Given the description of an element on the screen output the (x, y) to click on. 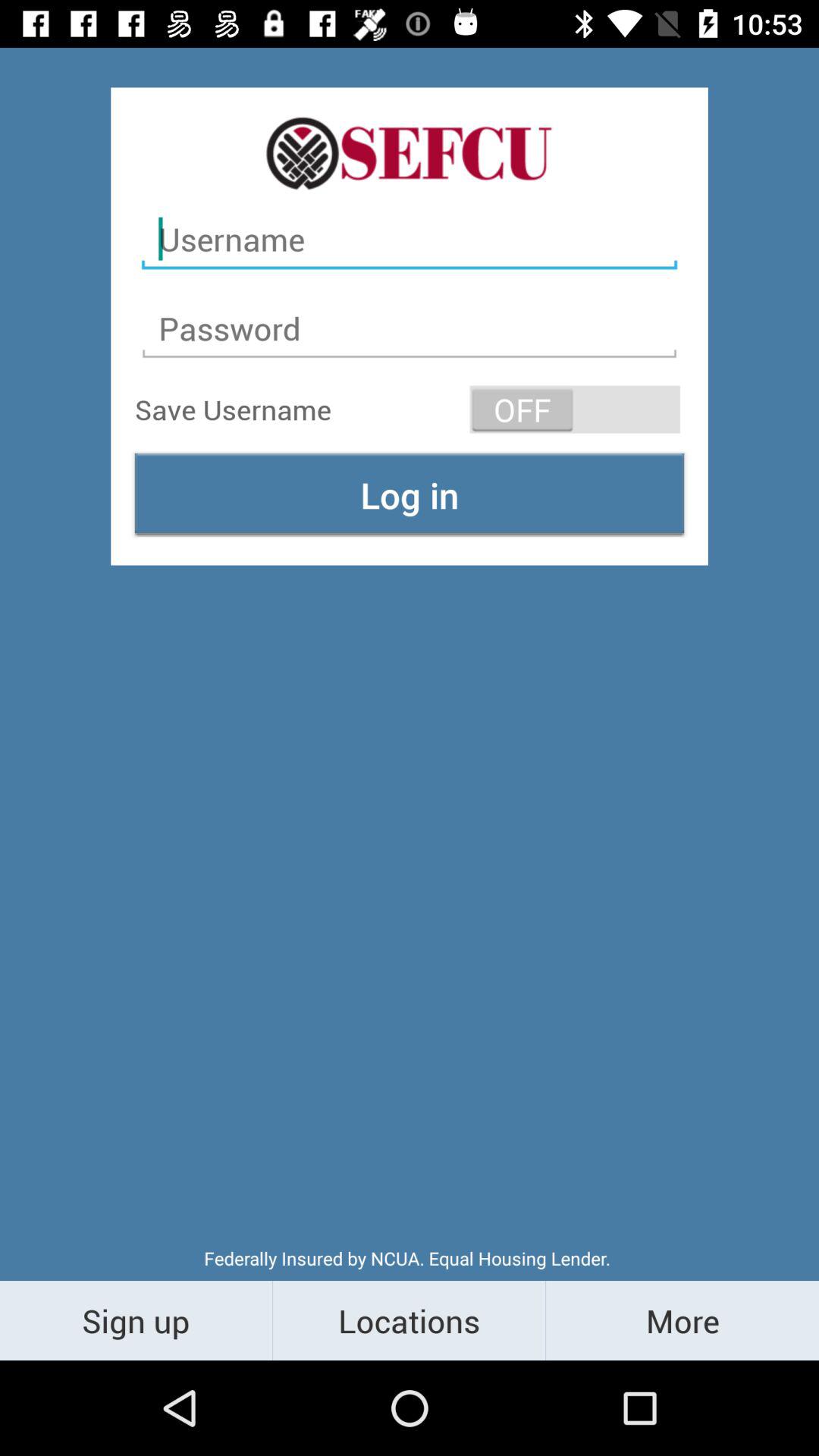
launch the item at the bottom right corner (682, 1320)
